Given the description of an element on the screen output the (x, y) to click on. 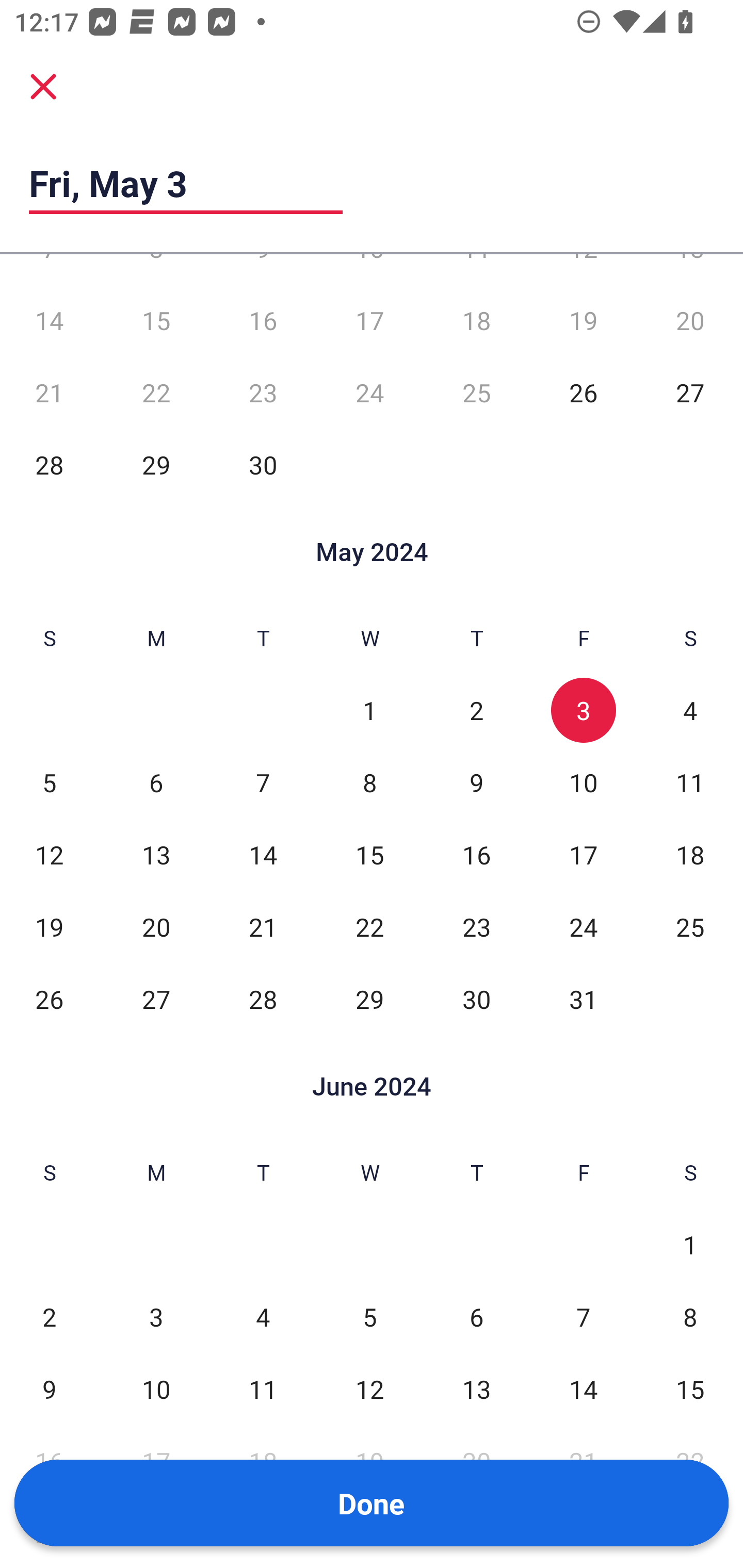
Cancel (43, 86)
Fri, May 3 (185, 182)
14 Sun, Apr 14, Not Selected (49, 319)
15 Mon, Apr 15, Not Selected (156, 319)
16 Tue, Apr 16, Not Selected (263, 319)
17 Wed, Apr 17, Not Selected (369, 319)
18 Thu, Apr 18, Not Selected (476, 319)
19 Fri, Apr 19, Not Selected (583, 319)
20 Sat, Apr 20, Not Selected (690, 319)
21 Sun, Apr 21, Not Selected (49, 391)
22 Mon, Apr 22, Not Selected (156, 391)
23 Tue, Apr 23, Not Selected (263, 391)
24 Wed, Apr 24, Not Selected (369, 391)
25 Thu, Apr 25, Not Selected (476, 391)
26 Fri, Apr 26, Not Selected (583, 391)
27 Sat, Apr 27, Not Selected (690, 391)
28 Sun, Apr 28, Not Selected (49, 464)
29 Mon, Apr 29, Not Selected (156, 464)
30 Tue, Apr 30, Not Selected (263, 464)
1 Wed, May 1, Not Selected (369, 710)
2 Thu, May 2, Not Selected (476, 710)
3 Fri, May 3, Selected (583, 710)
4 Sat, May 4, Not Selected (690, 710)
5 Sun, May 5, Not Selected (49, 782)
6 Mon, May 6, Not Selected (156, 782)
7 Tue, May 7, Not Selected (263, 782)
8 Wed, May 8, Not Selected (369, 782)
9 Thu, May 9, Not Selected (476, 782)
10 Fri, May 10, Not Selected (583, 782)
11 Sat, May 11, Not Selected (690, 782)
12 Sun, May 12, Not Selected (49, 854)
13 Mon, May 13, Not Selected (156, 854)
14 Tue, May 14, Not Selected (263, 854)
15 Wed, May 15, Not Selected (369, 854)
16 Thu, May 16, Not Selected (476, 854)
17 Fri, May 17, Not Selected (583, 854)
18 Sat, May 18, Not Selected (690, 854)
19 Sun, May 19, Not Selected (49, 926)
20 Mon, May 20, Not Selected (156, 926)
21 Tue, May 21, Not Selected (263, 926)
22 Wed, May 22, Not Selected (369, 926)
23 Thu, May 23, Not Selected (476, 926)
24 Fri, May 24, Not Selected (583, 926)
25 Sat, May 25, Not Selected (690, 926)
26 Sun, May 26, Not Selected (49, 998)
27 Mon, May 27, Not Selected (156, 998)
28 Tue, May 28, Not Selected (263, 998)
29 Wed, May 29, Not Selected (369, 998)
30 Thu, May 30, Not Selected (476, 998)
31 Fri, May 31, Not Selected (583, 998)
